Given the description of an element on the screen output the (x, y) to click on. 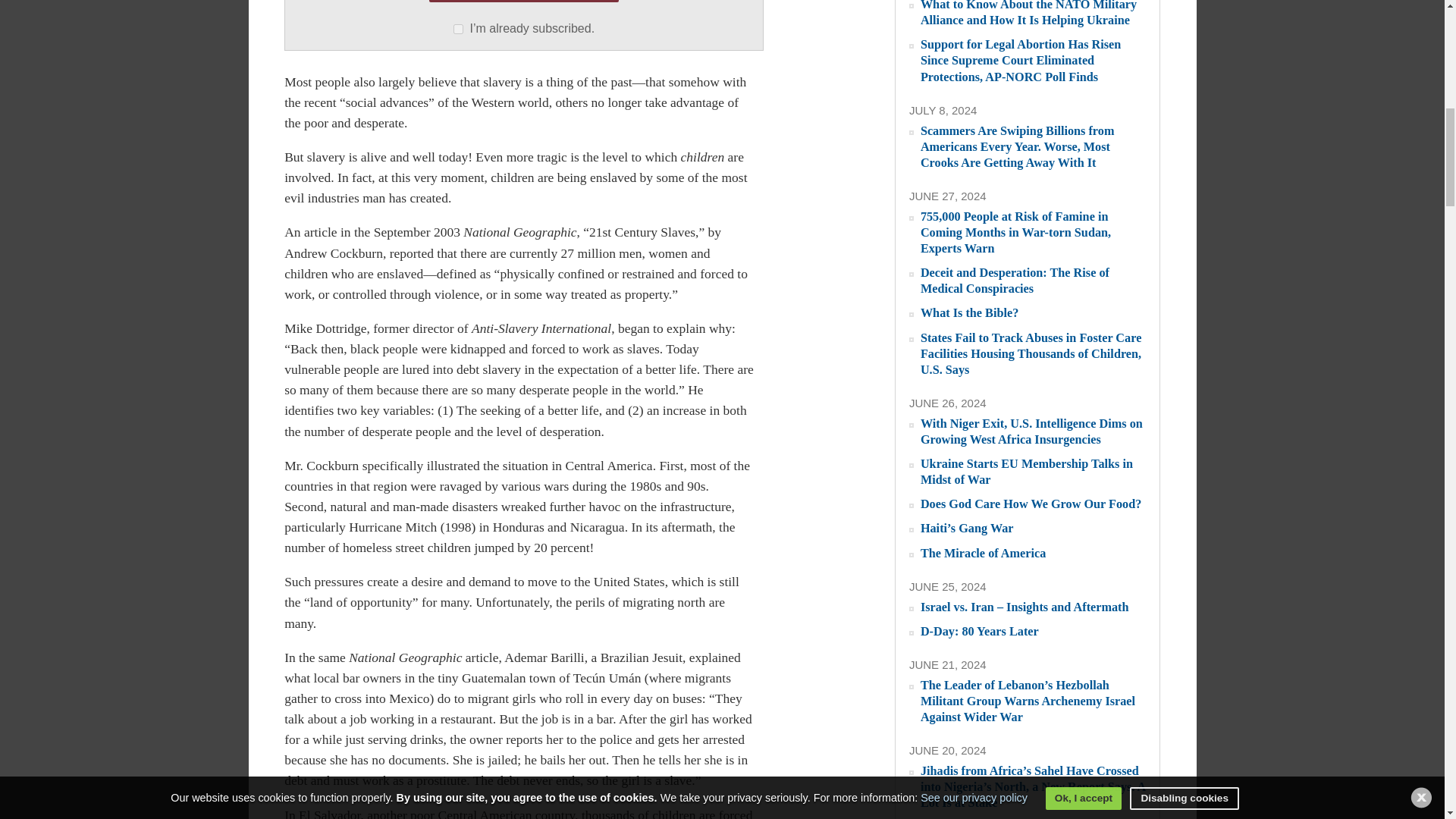
Subscribed (457, 29)
SUBSCRIBE NOW (523, 1)
